Given the description of an element on the screen output the (x, y) to click on. 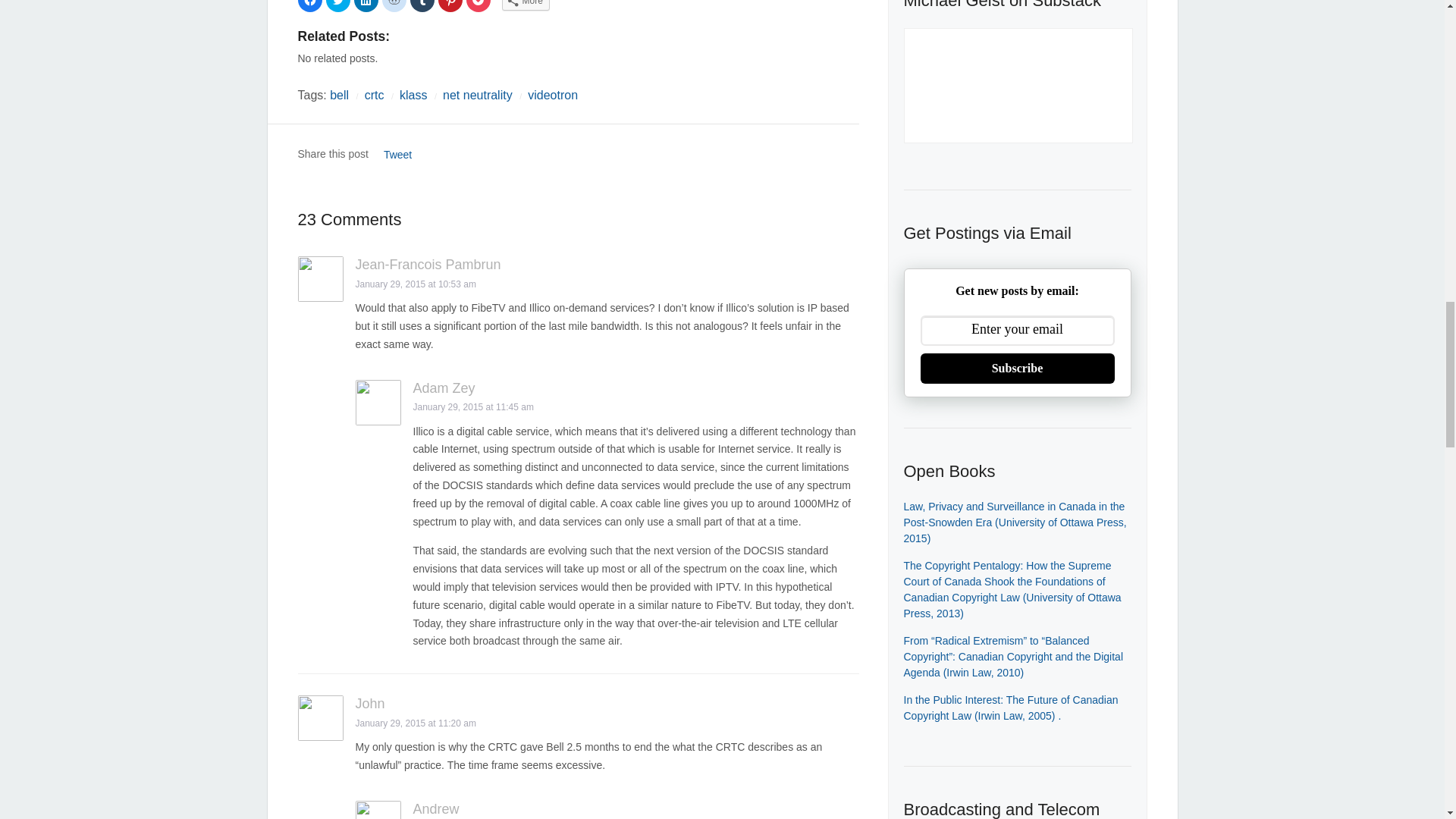
Click to share on LinkedIn (365, 6)
Click to share on Twitter (338, 6)
Click to share on Facebook (309, 6)
Click to share on Reddit (393, 6)
